Given the description of an element on the screen output the (x, y) to click on. 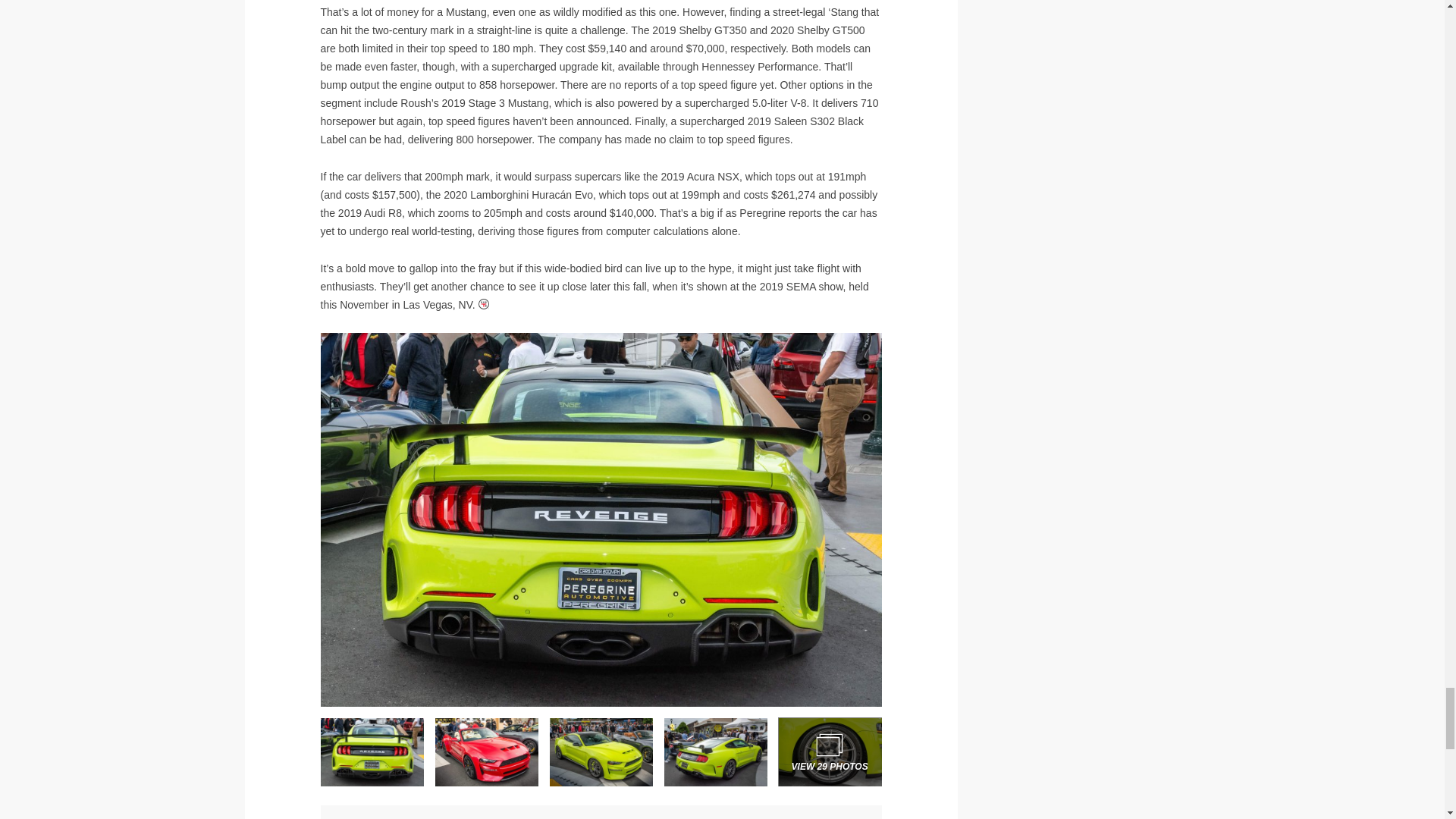
VIEW 29 PHOTOS (829, 751)
